Given the description of an element on the screen output the (x, y) to click on. 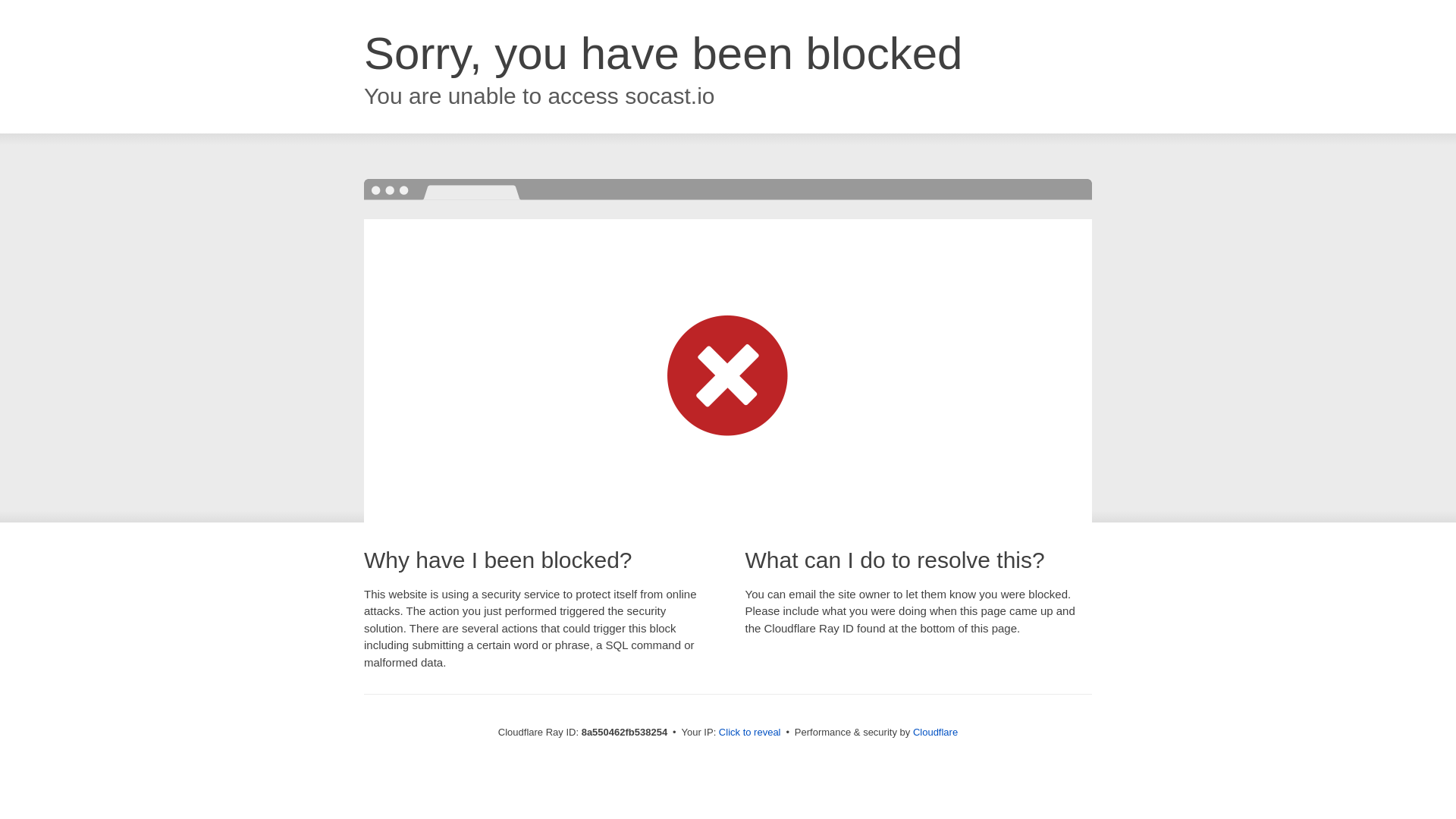
Click to reveal (749, 732)
Cloudflare (935, 731)
